Given the description of an element on the screen output the (x, y) to click on. 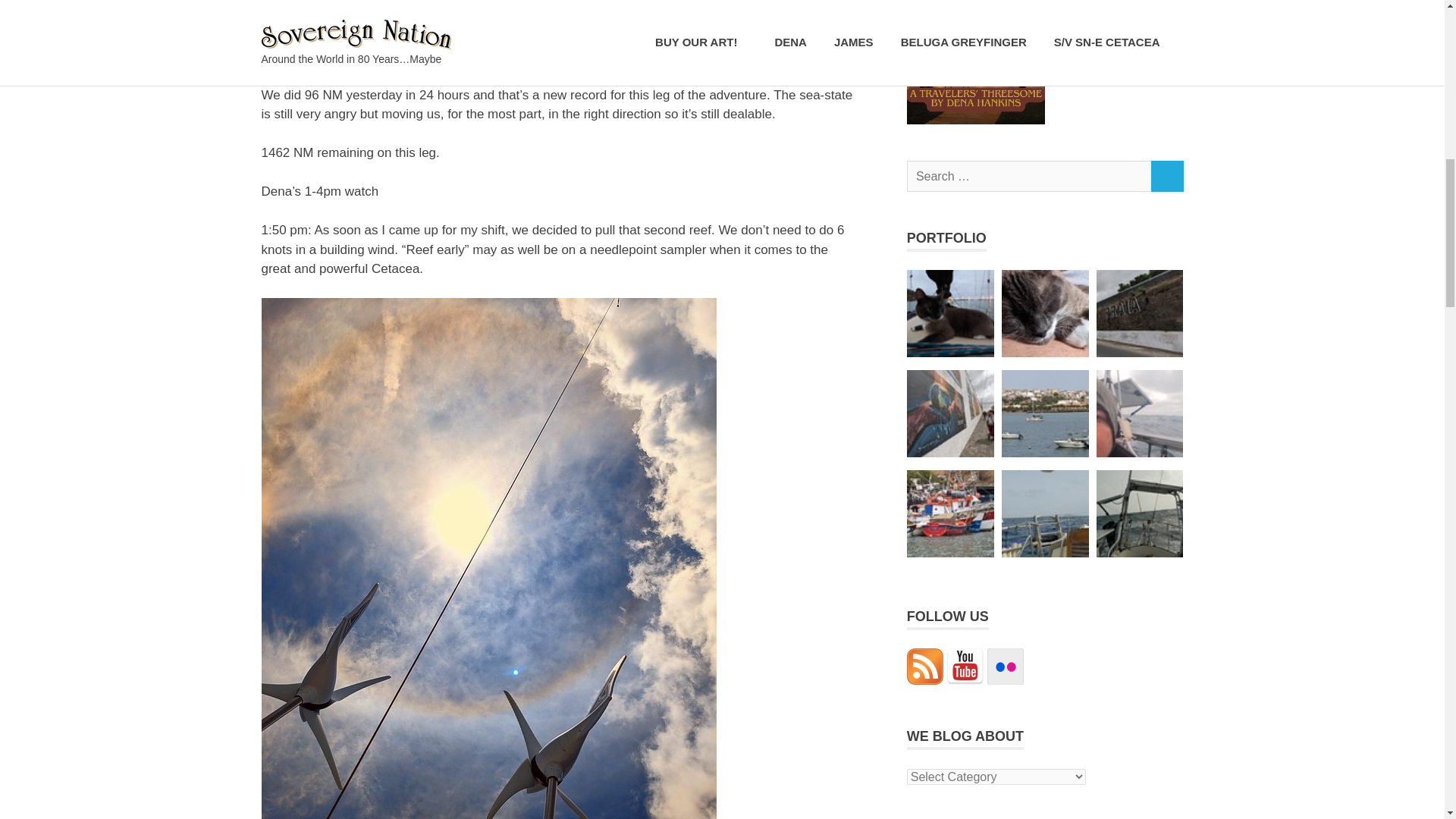
DENA (360, 19)
JULY 31, 2023 (295, 19)
ELECTRIFIED (425, 19)
SAILING LOGS (497, 19)
8:37 am (295, 19)
View all posts by Dena (360, 19)
